Given the description of an element on the screen output the (x, y) to click on. 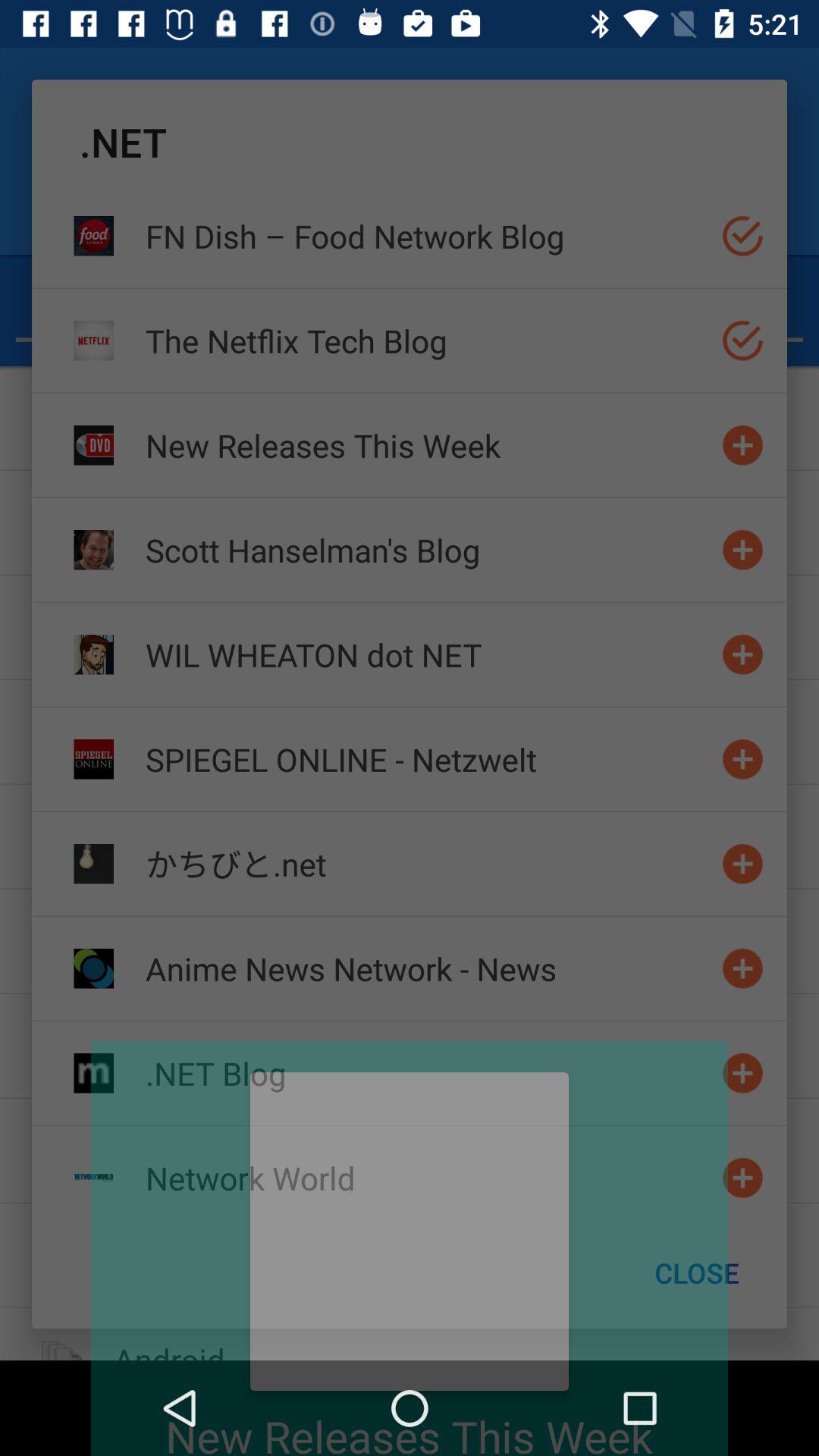
jump to the netflix tech icon (426, 340)
